Given the description of an element on the screen output the (x, y) to click on. 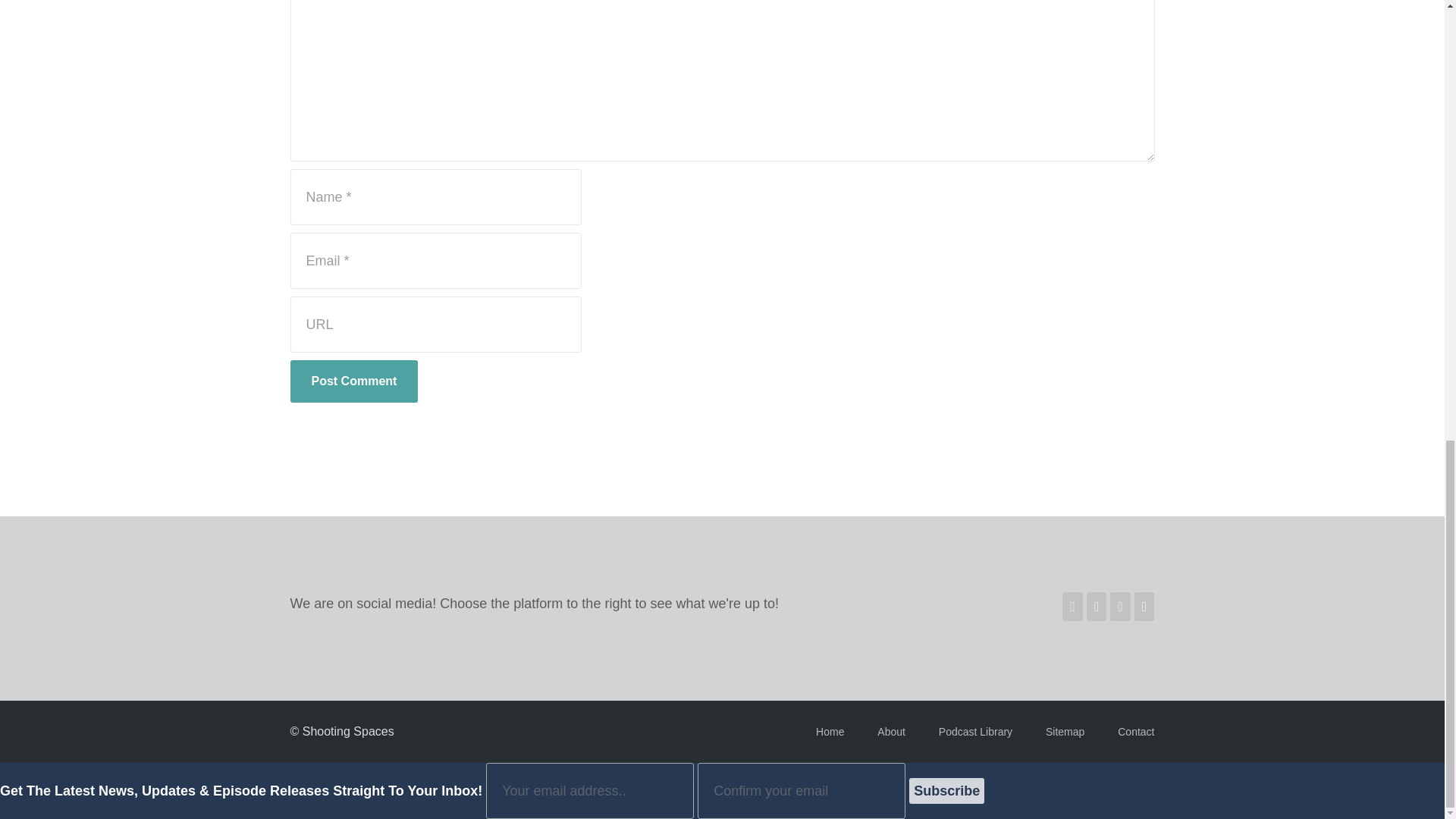
Subscribe (946, 790)
About (891, 731)
Contact (1136, 731)
Home (829, 731)
Podcast Library (975, 731)
Post Comment (353, 381)
Subscribe (946, 790)
Post Comment (353, 381)
Sitemap (1064, 731)
